Given the description of an element on the screen output the (x, y) to click on. 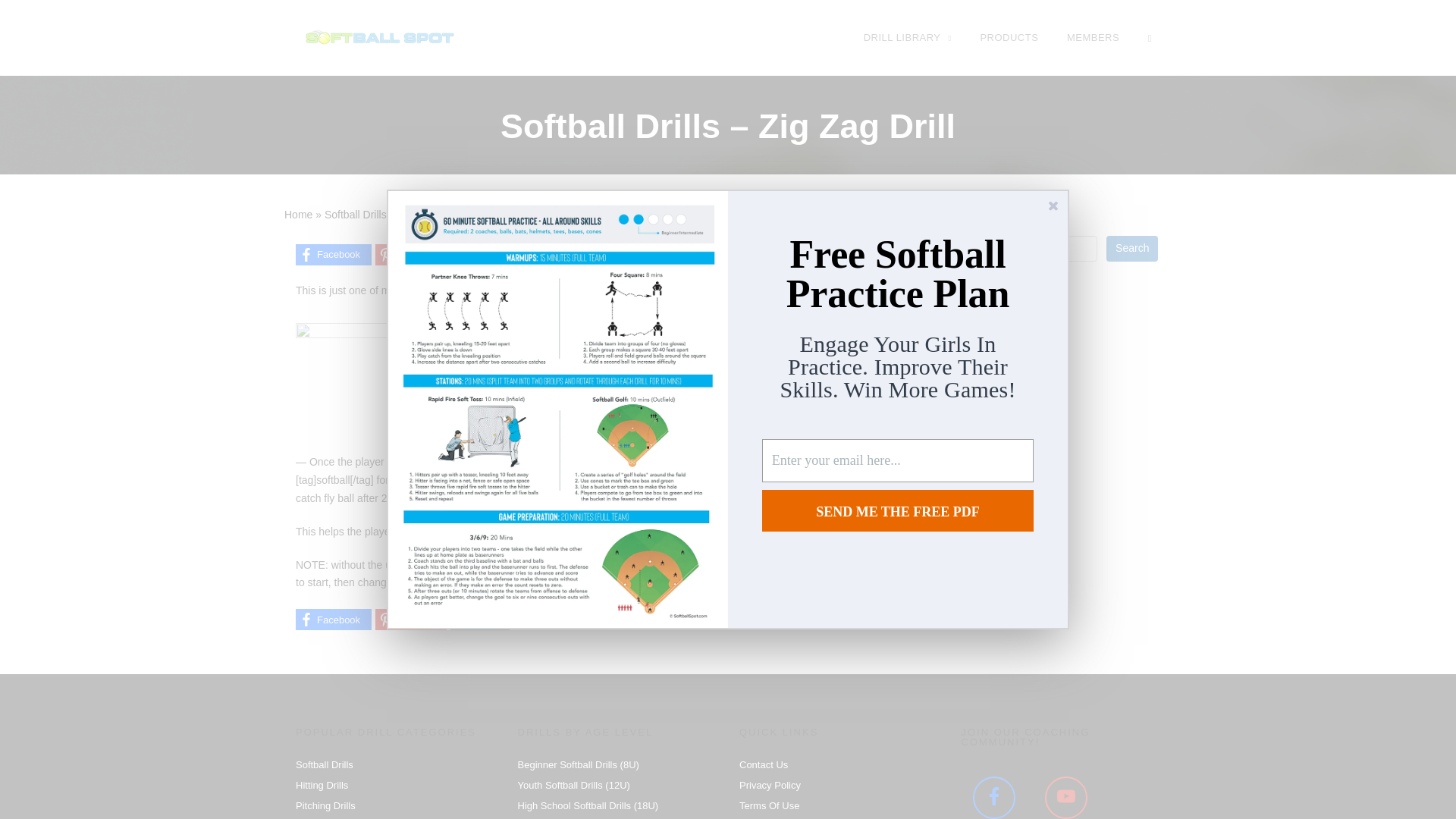
PRODUCTS (1008, 37)
Share on Share (479, 254)
Share on Pinterest (410, 254)
Pinterest (410, 254)
OPEN SEARCH FORM (1150, 37)
Home (298, 214)
Search (1131, 248)
DRILL LIBRARY (907, 37)
Share on Facebook (333, 254)
Softball Spot (379, 36)
MEMBERS (1092, 37)
Share (479, 254)
Facebook (333, 254)
Softball Drills (355, 214)
Softball Defensive Drills (454, 214)
